Given the description of an element on the screen output the (x, y) to click on. 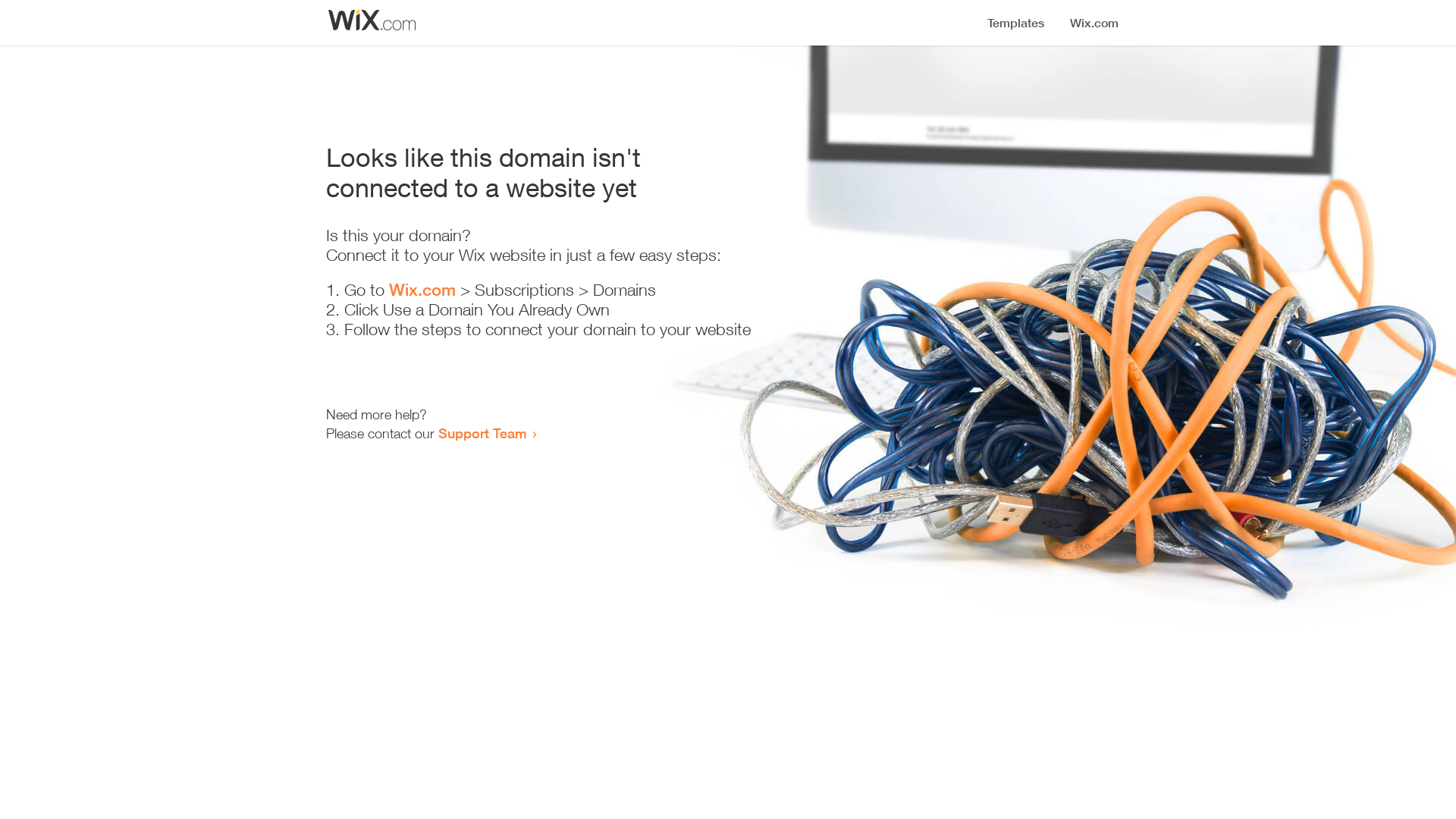
Support Team Element type: text (482, 432)
Wix.com Element type: text (422, 289)
